Given the description of an element on the screen output the (x, y) to click on. 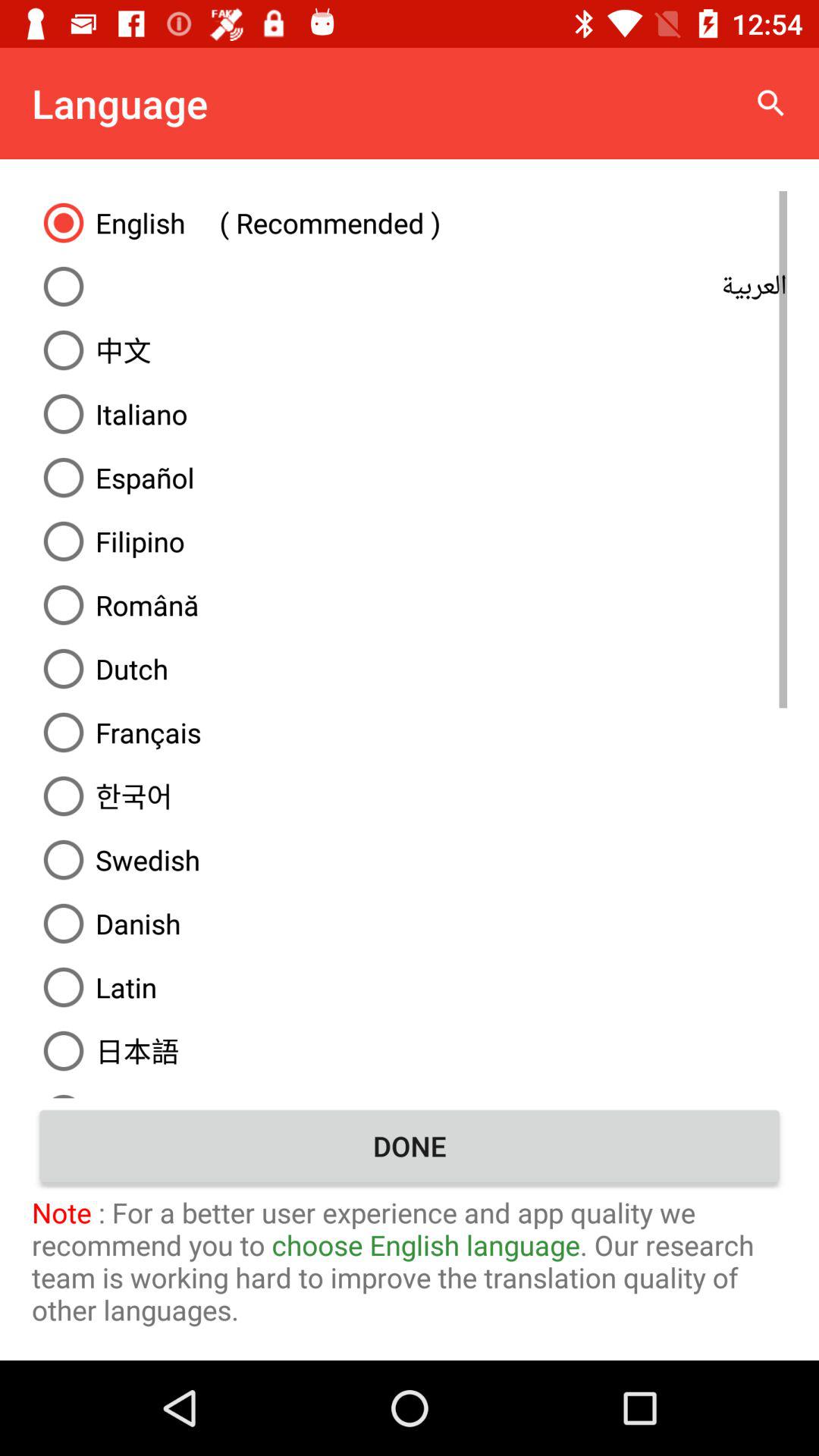
turn on icon below english     ( recommended ) (409, 286)
